Given the description of an element on the screen output the (x, y) to click on. 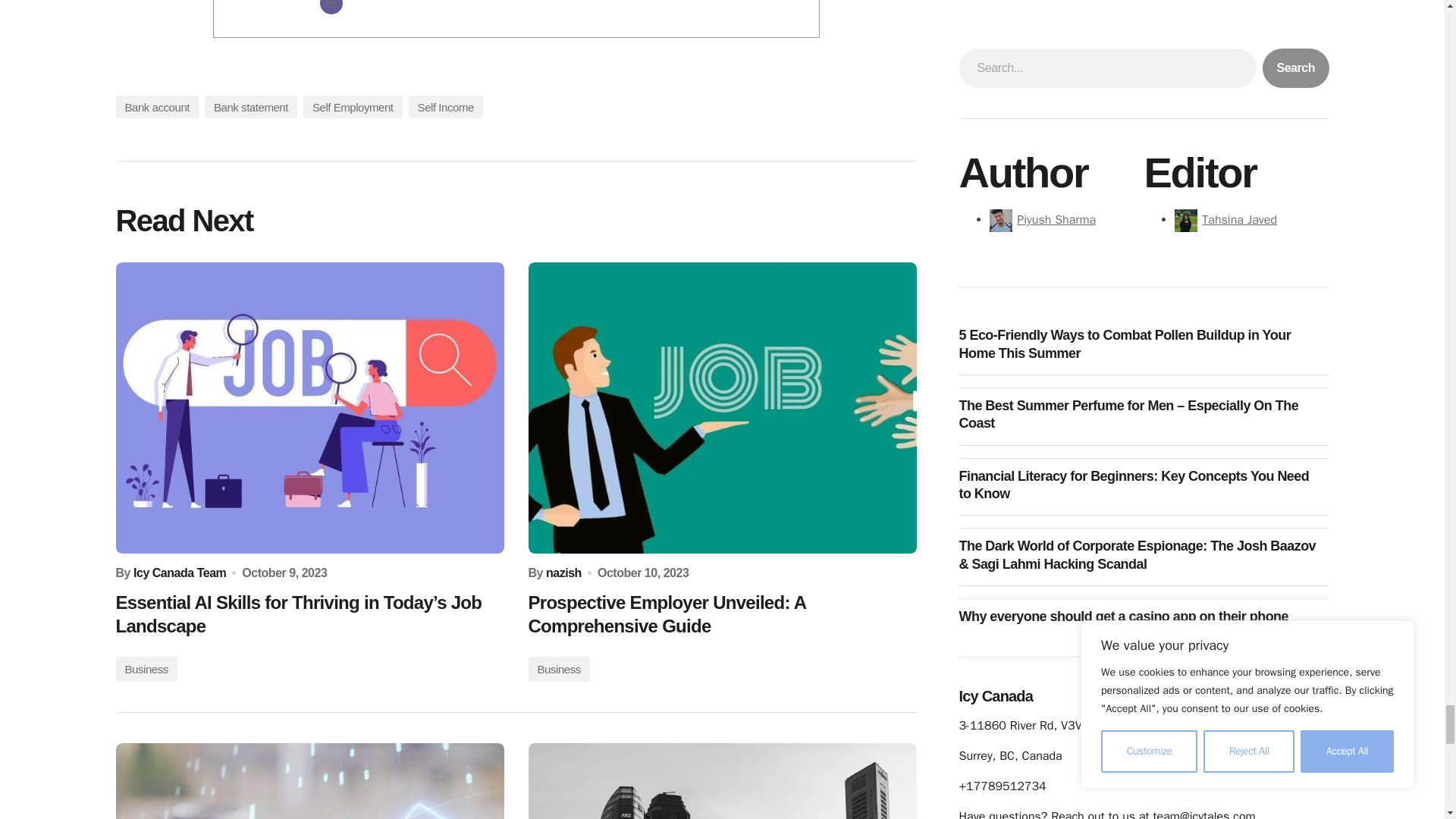
Prospective Employer Unveiled: A Comprehensive Guide (721, 407)
